Given the description of an element on the screen output the (x, y) to click on. 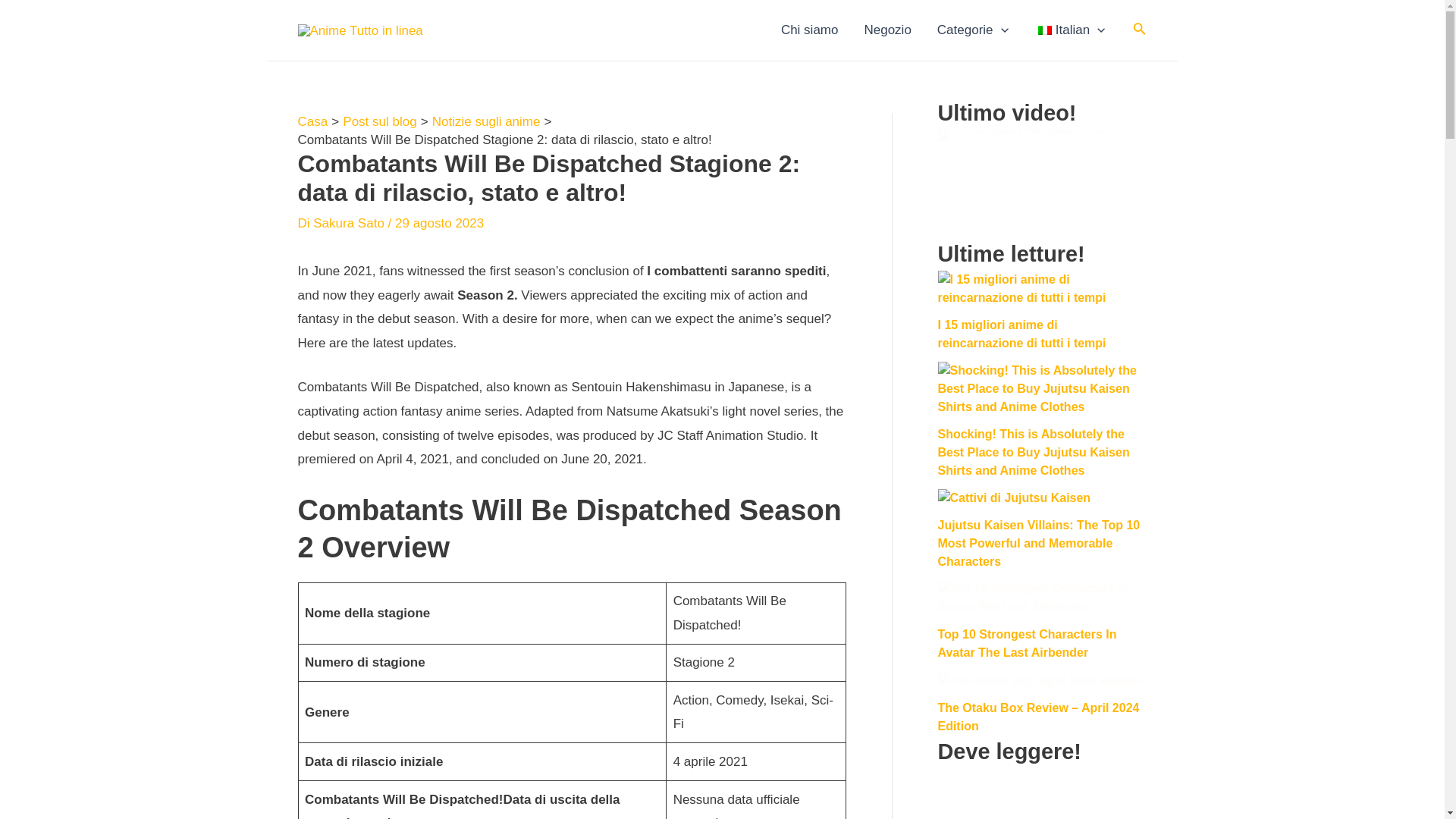
Italian (1070, 30)
Visualizza tutti gli articoli di Sakura Sato (350, 223)
Casa (312, 121)
Sakura Sato (350, 223)
Notizie sugli anime (486, 121)
Post sul blog (379, 121)
Chi siamo (809, 30)
Negozio (886, 30)
Italian (1044, 30)
Categorie (973, 30)
